Given the description of an element on the screen output the (x, y) to click on. 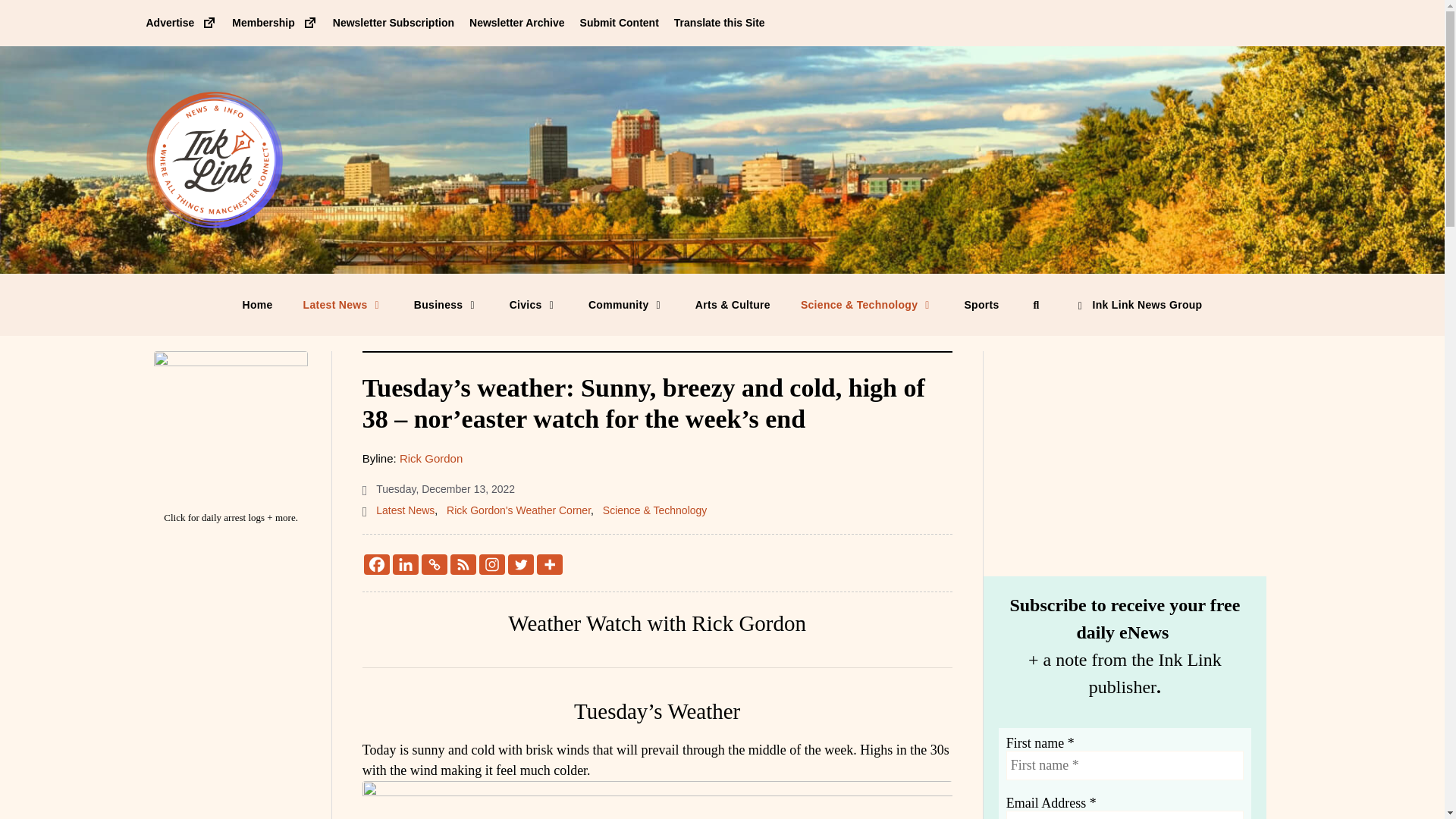
Instagram (492, 564)
Email Address (1124, 814)
Translate this Site (719, 22)
Linkedin (406, 564)
Newsletter Archive (516, 22)
Twitter (521, 564)
Advertise (180, 22)
Newsletter Subscription (393, 22)
Ink Link News Group (1137, 304)
More (549, 564)
